Given the description of an element on the screen output the (x, y) to click on. 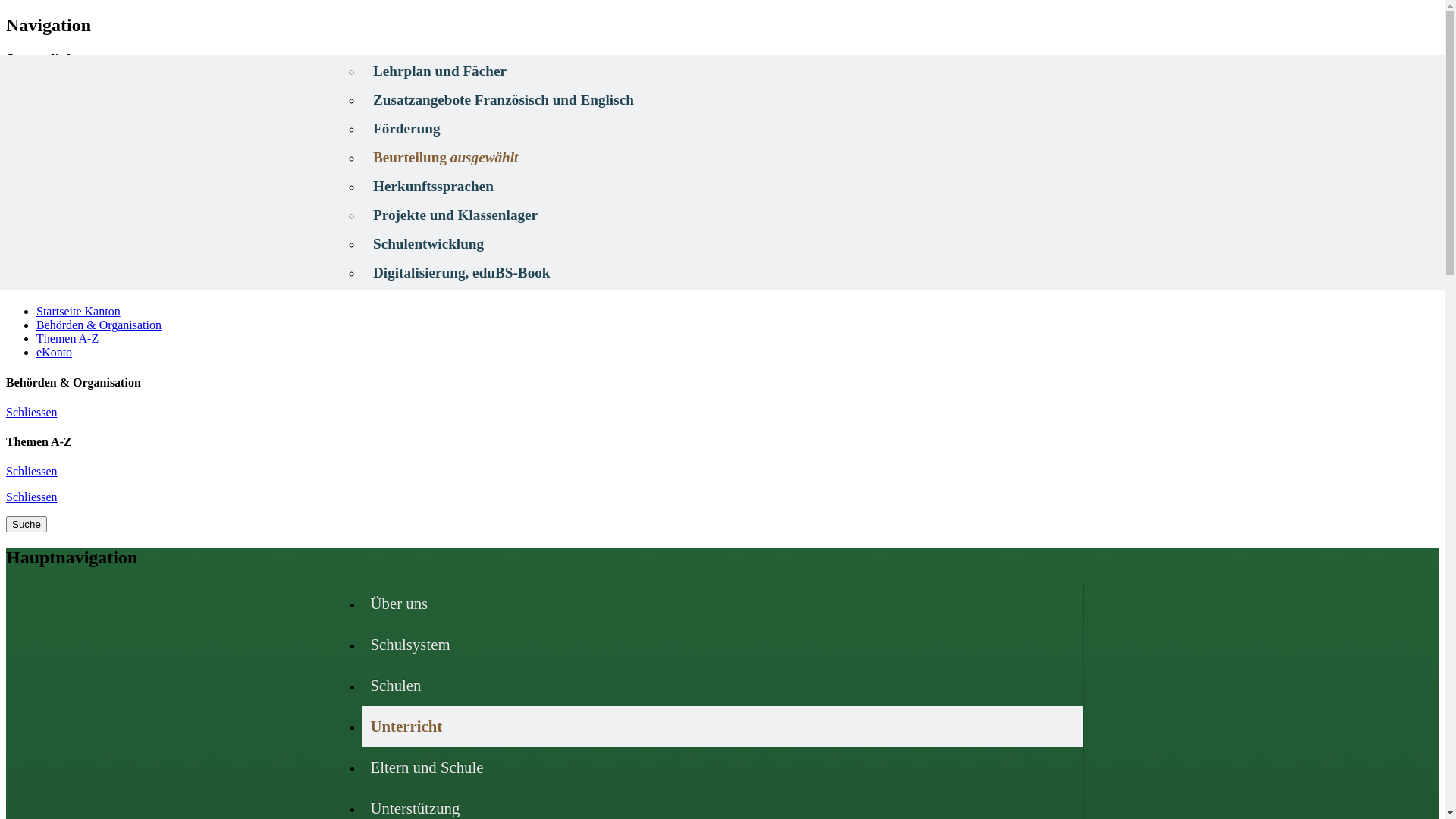
Suche Element type: text (50, 168)
Herkunftssprachen Element type: text (720, 186)
Schliessen Element type: text (31, 470)
Unterricht Element type: text (722, 726)
Schulentwicklung Element type: text (720, 243)
Schulen Element type: text (722, 685)
Digitalisierung, eduBS-Book Element type: text (720, 272)
Hauptnavigation Element type: text (76, 127)
Eltern und Schule Element type: text (722, 766)
Kontakt Element type: text (55, 154)
Schliessen Element type: text (31, 411)
Startseite Kanton Element type: text (78, 310)
Themen A-Z Element type: text (67, 338)
Startseite Element type: text (58, 113)
Schliessen Element type: text (31, 496)
Schulsystem Element type: text (722, 644)
Projekte und Klassenlager Element type: text (720, 214)
Suche Element type: text (26, 524)
Zum Inhalt Element type: text (63, 140)
eKonto Element type: text (54, 351)
